Given the description of an element on the screen output the (x, y) to click on. 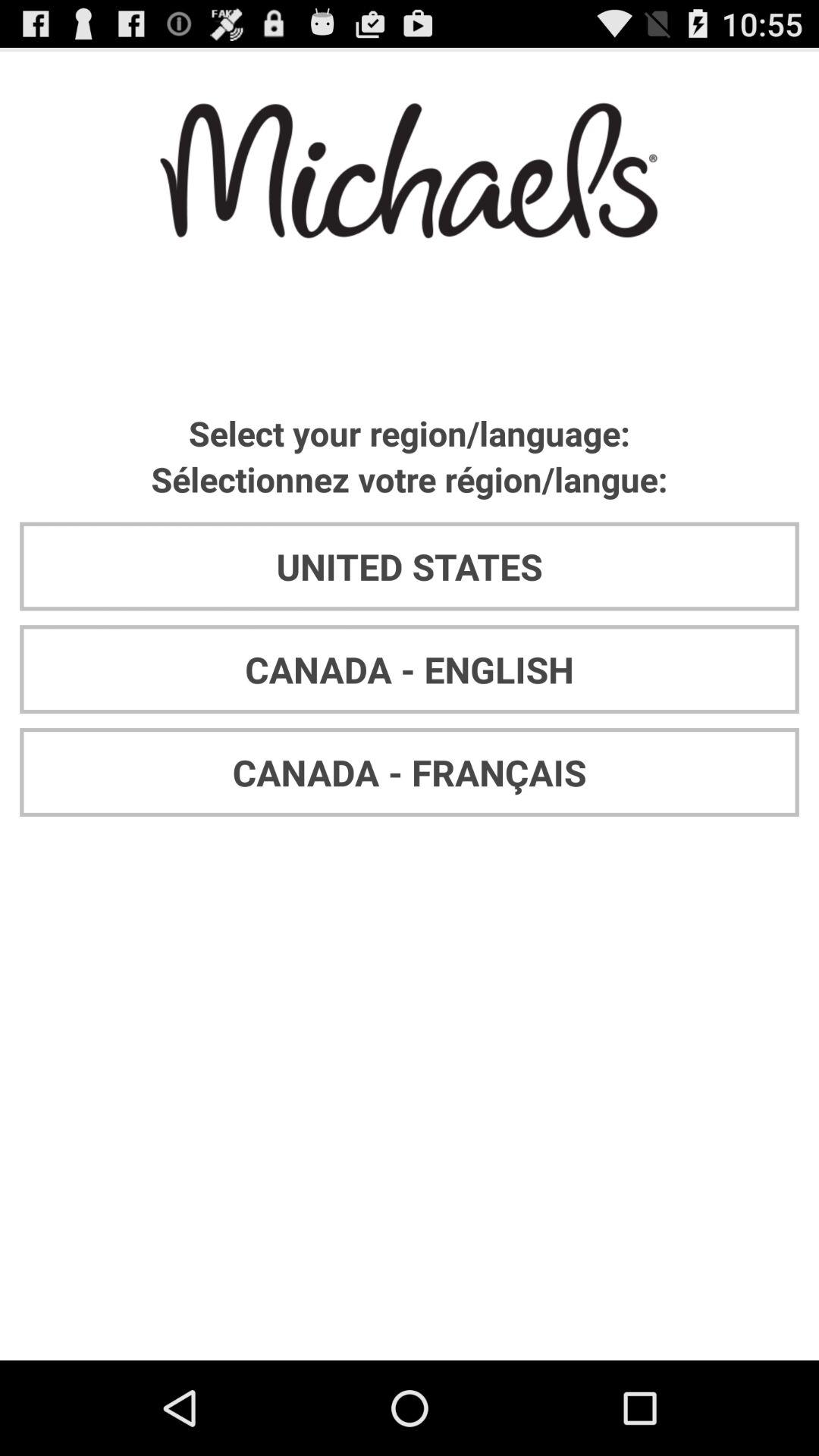
press the canada - english app (409, 669)
